Given the description of an element on the screen output the (x, y) to click on. 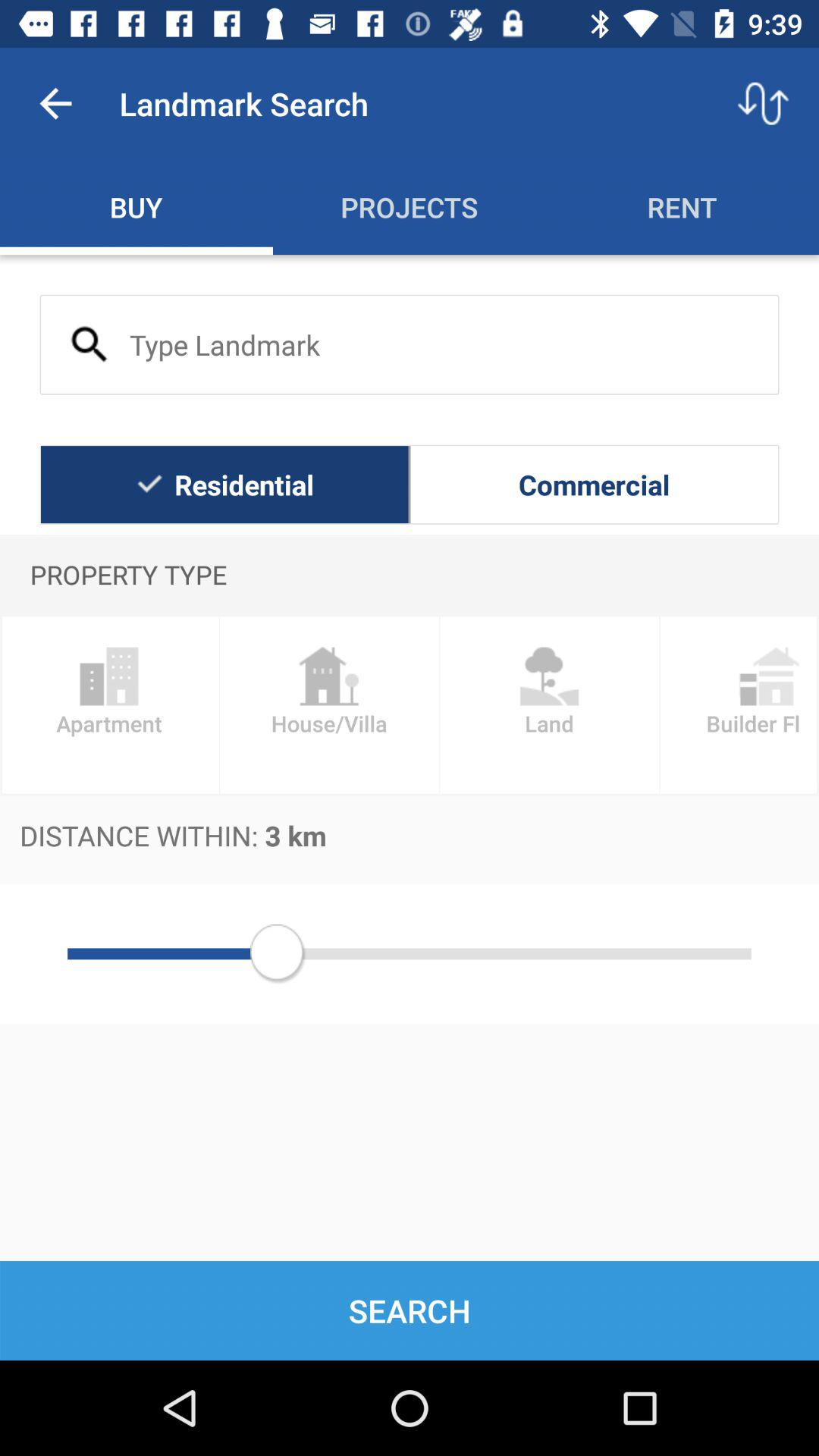
click factory icon (329, 704)
